Given the description of an element on the screen output the (x, y) to click on. 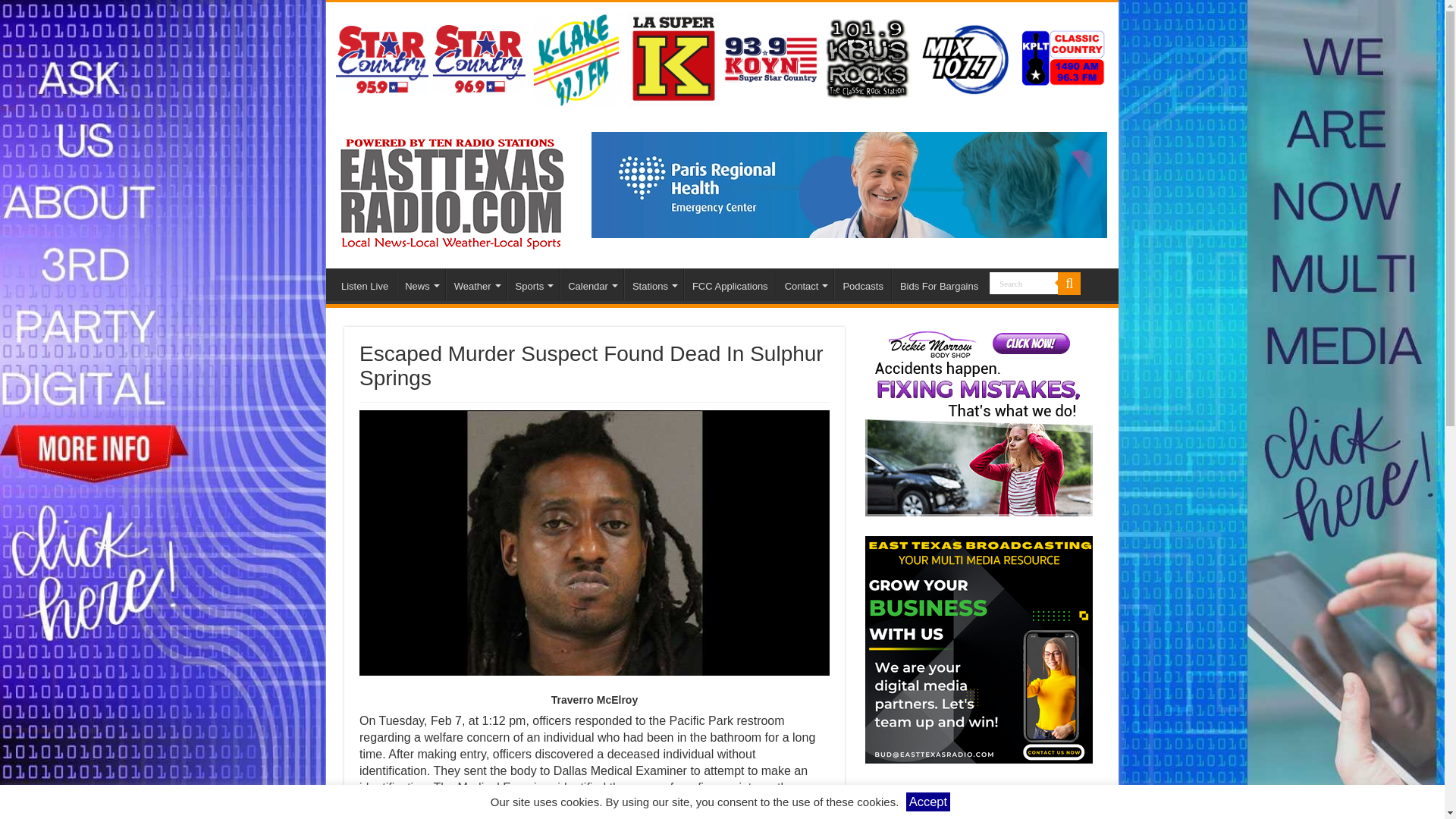
EastTexasRadio.com (450, 189)
Search (1024, 282)
Search (1024, 282)
Search (1024, 282)
